Given the description of an element on the screen output the (x, y) to click on. 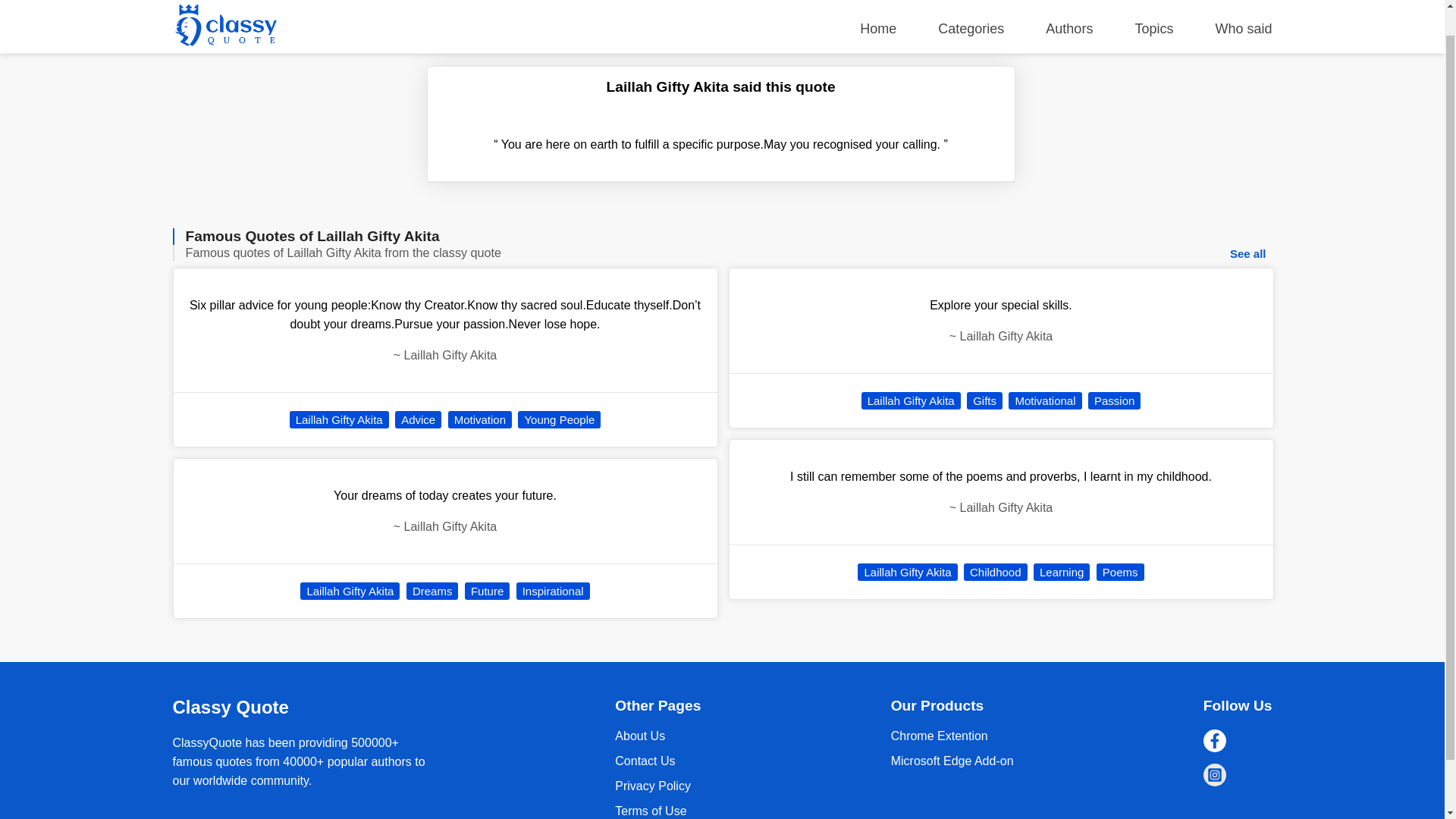
Chrome Extention (952, 760)
Categories (970, 4)
Topics (1153, 4)
Laillah Gifty Akita (338, 419)
Instagram coming soon (1214, 774)
Facebook (1214, 740)
Poems (1120, 571)
Laillah Gifty Akita (910, 400)
Microsoft Edge Add-on (952, 760)
Chrome Extention (939, 735)
Who said (1242, 4)
Childhood (995, 571)
Privacy Policy (652, 785)
Contact Us (644, 760)
Dreams (432, 590)
